Given the description of an element on the screen output the (x, y) to click on. 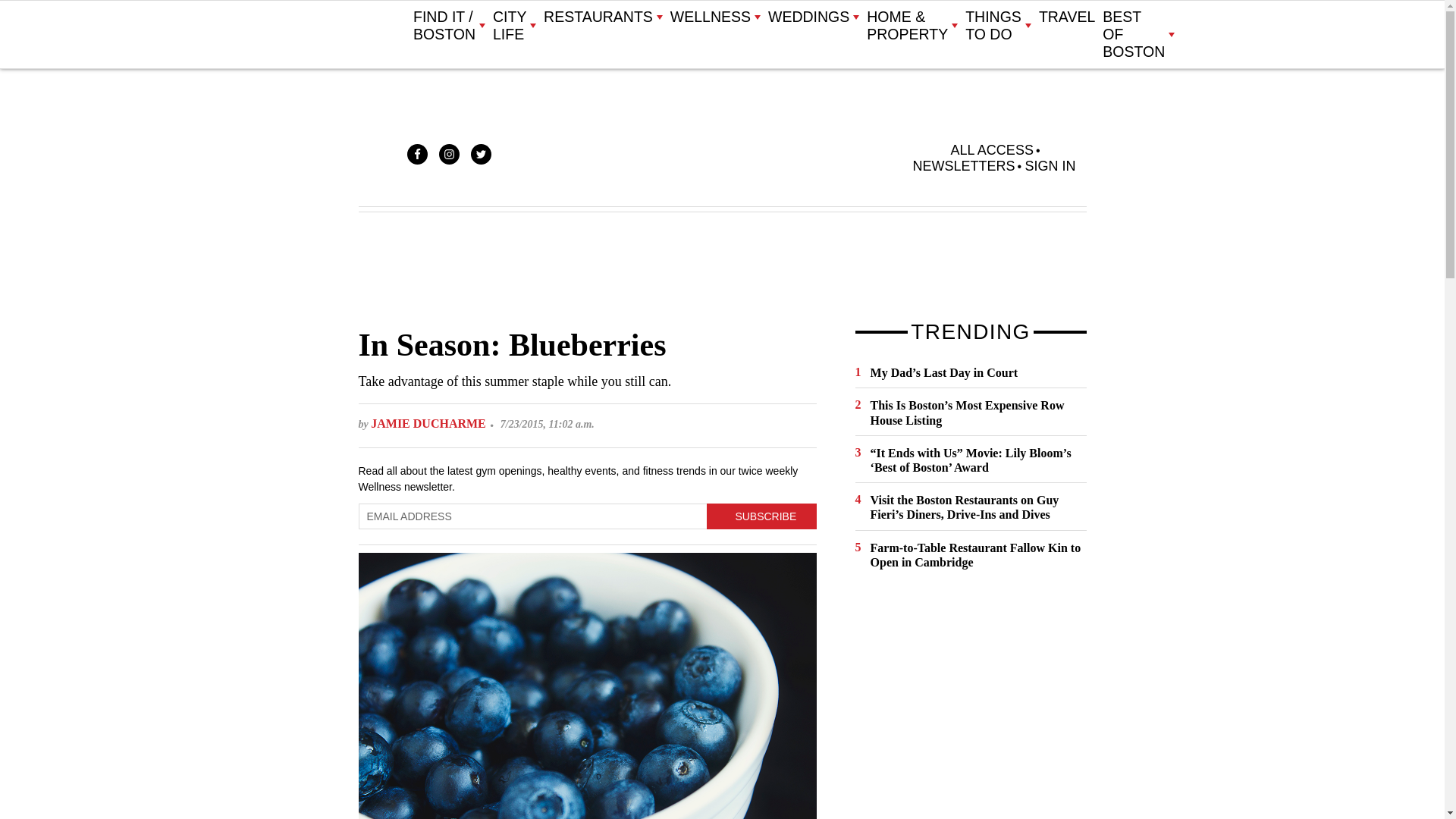
THINGS TO DO (997, 25)
3rd party ad content (969, 705)
WEDDINGS (813, 16)
RESTAURANTS (602, 16)
Subscribe (761, 516)
3rd party ad content (721, 269)
WELLNESS (714, 16)
